Given the description of an element on the screen output the (x, y) to click on. 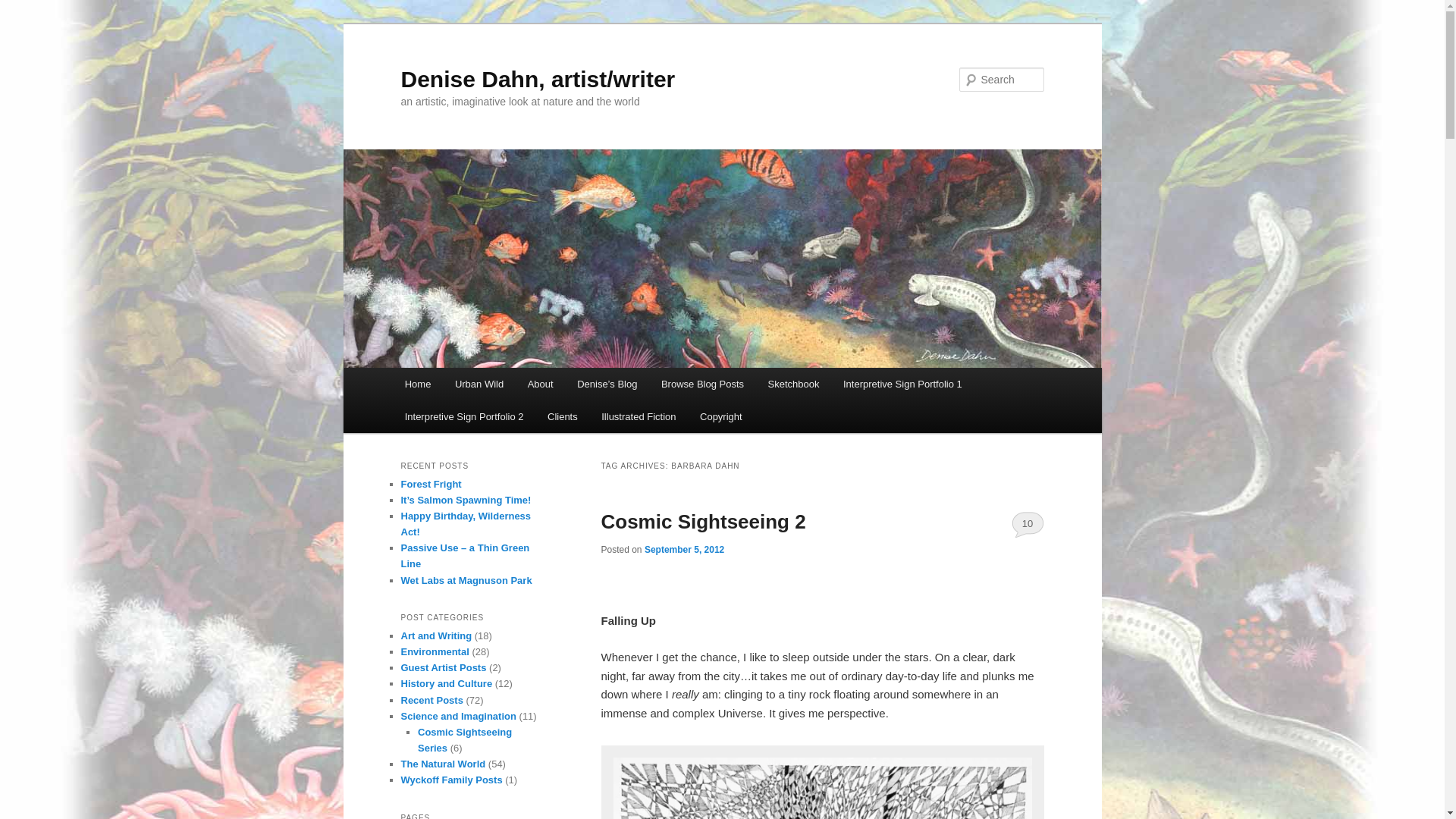
barbaradahn3 (822, 785)
Browse Blog Posts (702, 383)
About (539, 383)
Search (24, 8)
Interpretive Sign Portfolio 2 (464, 416)
Sketchbook (793, 383)
Interpretive Sign Portfolio 1 (902, 383)
Home (417, 383)
Urban Wild (478, 383)
